Given the description of an element on the screen output the (x, y) to click on. 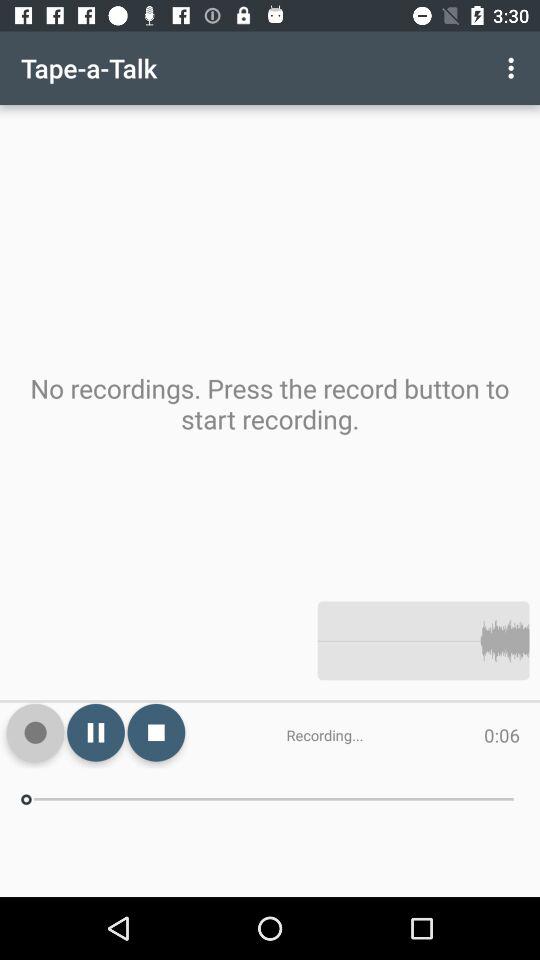
choose the app above the no recordings press item (513, 67)
